Given the description of an element on the screen output the (x, y) to click on. 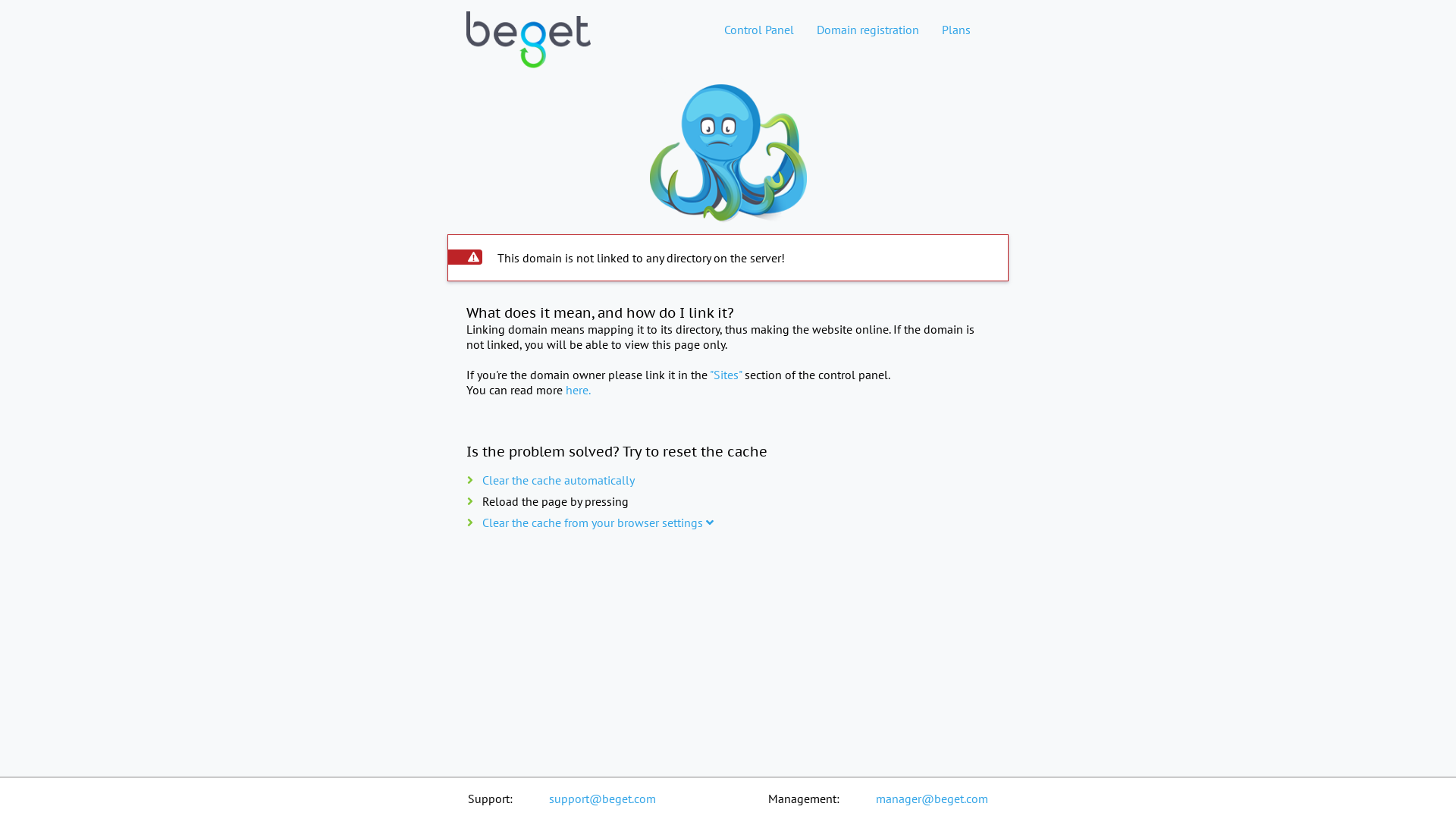
Domain registration Element type: text (867, 29)
Clear the cache from your browser settings Element type: text (597, 522)
"Sites" Element type: text (725, 374)
here. Element type: text (577, 389)
Plans Element type: text (956, 29)
support@beget.com Element type: text (602, 798)
manager@beget.com Element type: text (931, 798)
Control Panel Element type: text (758, 29)
Web hosting home page Element type: hover (528, 51)
Clear the cache automatically Element type: text (558, 479)
